Given the description of an element on the screen output the (x, y) to click on. 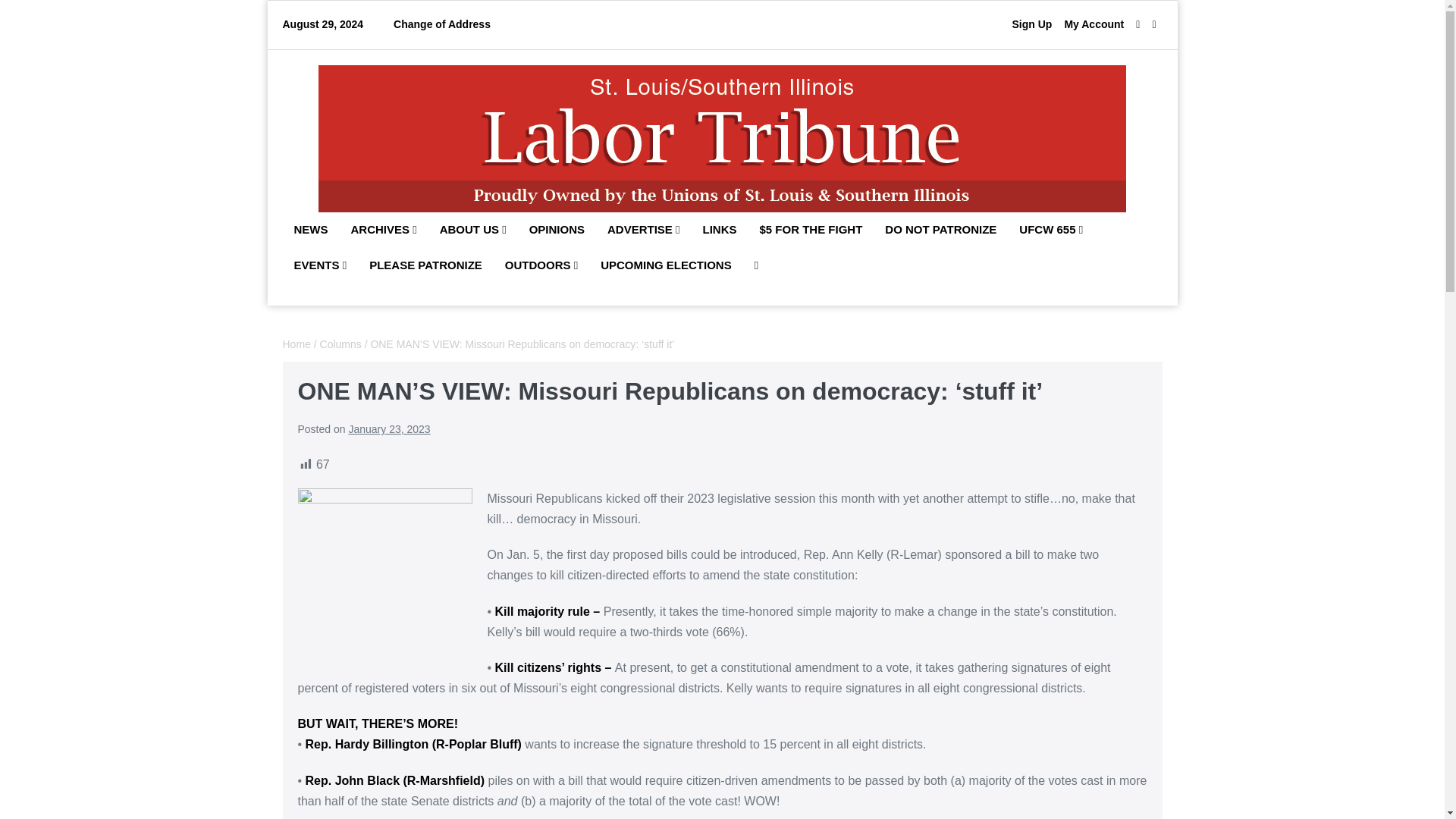
DO NOT PATRONIZE (940, 230)
PLEASE PATRONIZE (425, 266)
ADVERTISE (643, 230)
Sign Up (1032, 24)
My Account (1093, 24)
OUTDOORS (541, 266)
ARCHIVES (383, 230)
OPINIONS (556, 230)
Change of Address (441, 24)
UFCW 655 (1050, 230)
